Given the description of an element on the screen output the (x, y) to click on. 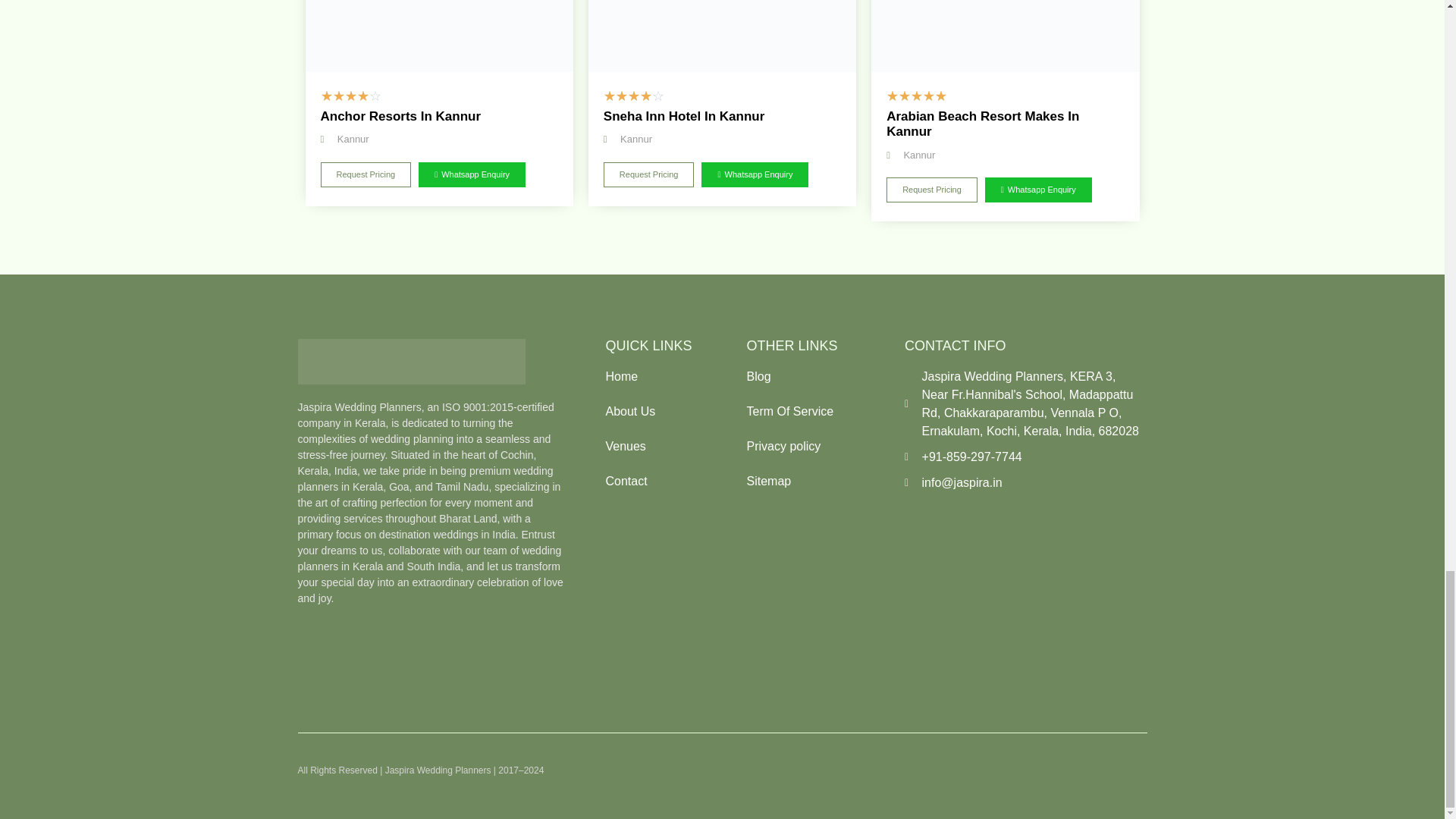
Sneha Inn, Kannur W (722, 36)
Anchor Resorts In Kannur (438, 36)
Arabian Beach Resort Makes W (1004, 36)
